Given the description of an element on the screen output the (x, y) to click on. 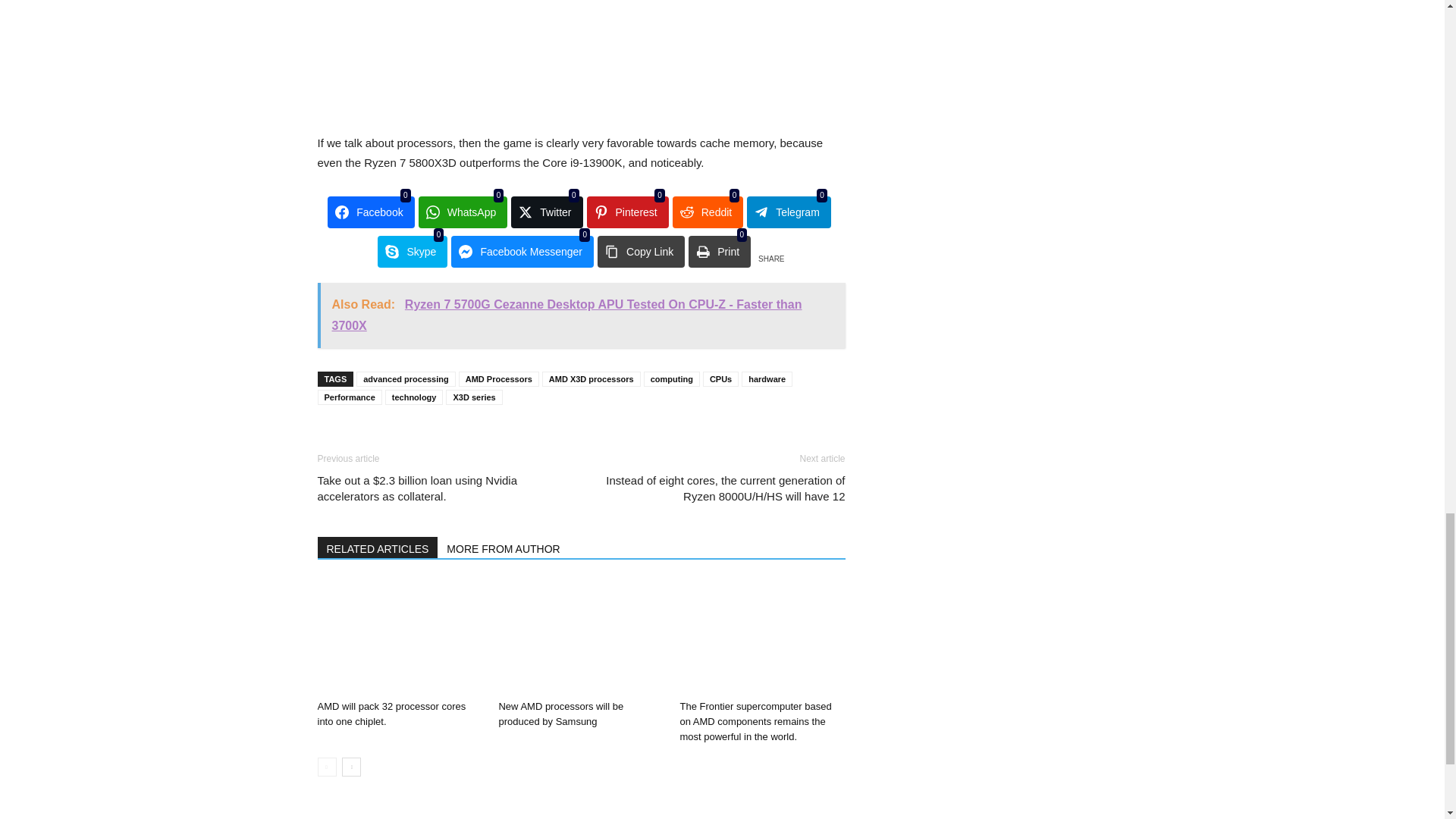
Share on Facebook (370, 212)
bottomFacebookLike (430, 438)
Twitter (546, 212)
AMD will pack 32 processor cores into one chiplet. (399, 636)
Skype (411, 251)
Share on WhatsApp (463, 212)
Facebook Messenger (522, 251)
Share on Reddit (707, 212)
WhatsApp (463, 212)
Share on Telegram (788, 212)
Telegram (788, 212)
Facebook (370, 212)
Reddit (707, 212)
Pinterest (627, 212)
Share on Twitter (546, 212)
